Given the description of an element on the screen output the (x, y) to click on. 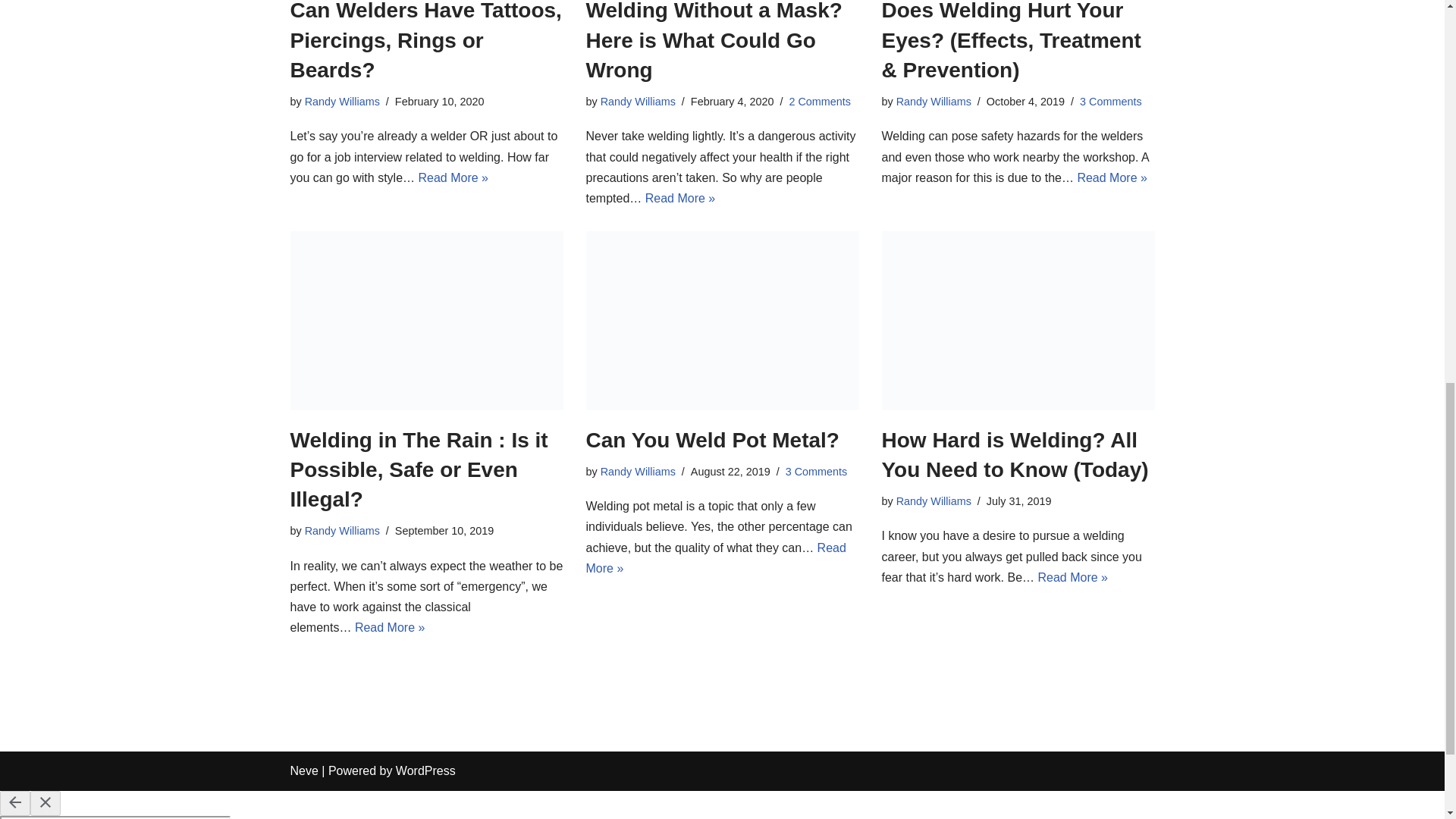
Posts by Randy Williams (342, 530)
Randy Williams (637, 101)
2 Comments (819, 101)
Welding Without a Mask? Here is What Could Go Wrong (713, 40)
3 Comments (1110, 101)
Randy Williams (342, 101)
Welding in The Rain : Is it Possible, Safe or Even Illegal? (425, 319)
Posts by Randy Williams (933, 101)
Posts by Randy Williams (637, 101)
Randy Williams (933, 101)
